Given the description of an element on the screen output the (x, y) to click on. 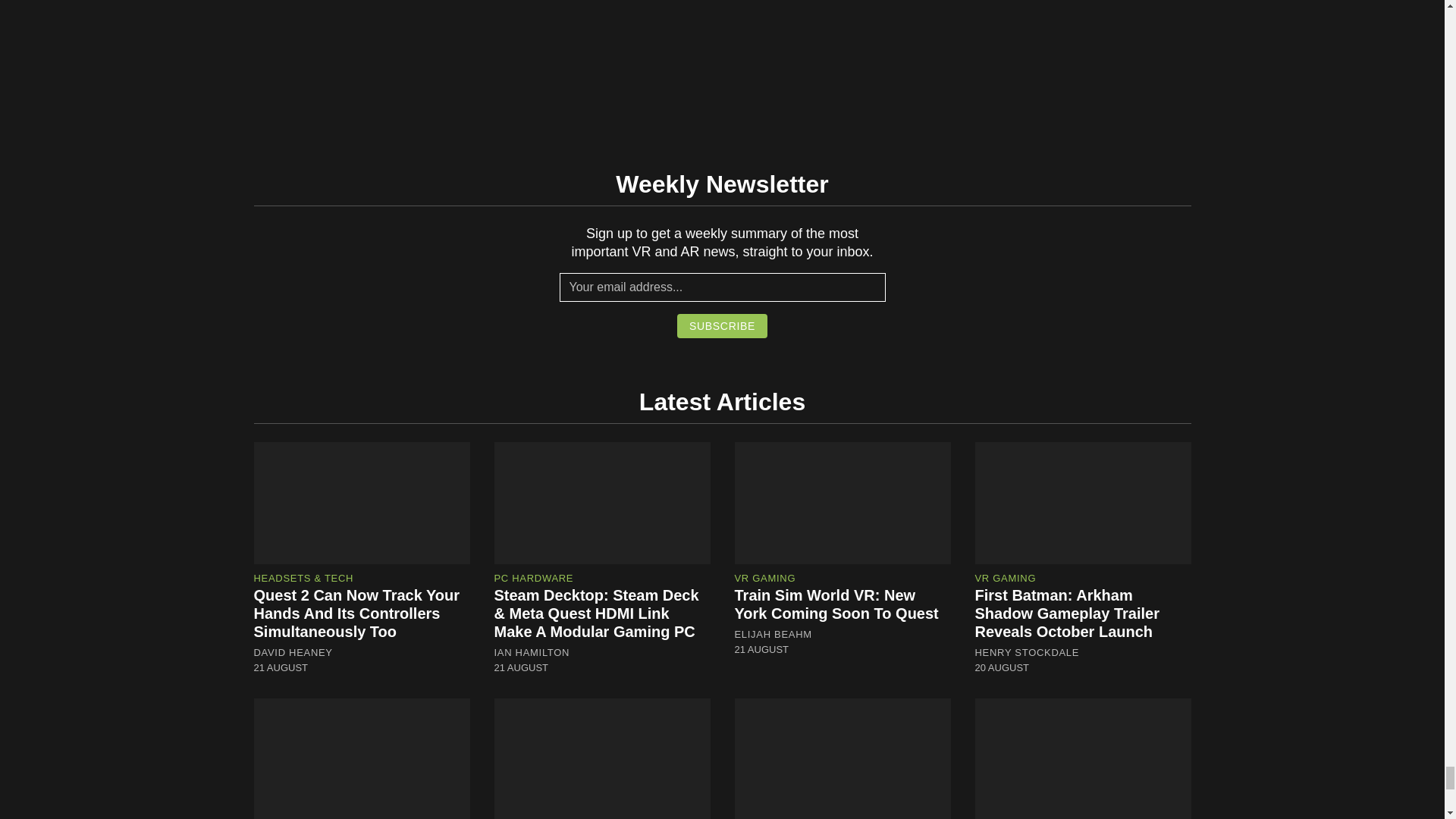
PC HARDWARE (534, 577)
Latest Articles (722, 401)
IAN HAMILTON (532, 653)
Subscribe (722, 325)
Subscribe (722, 325)
DAVID HEANEY (292, 653)
